Given the description of an element on the screen output the (x, y) to click on. 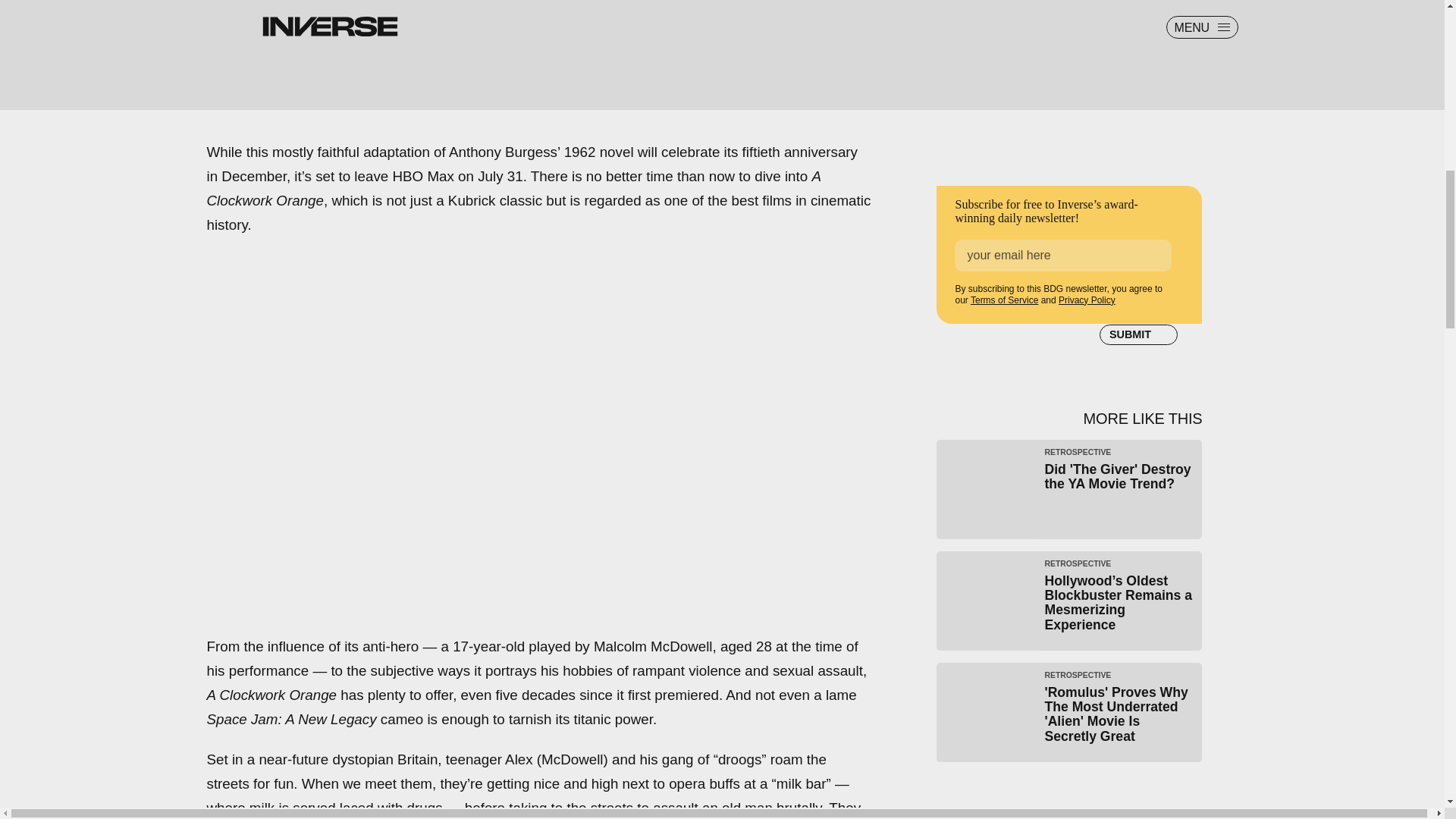
Privacy Policy (1086, 299)
SUBMIT (1138, 334)
Terms of Service (1004, 299)
